Given the description of an element on the screen output the (x, y) to click on. 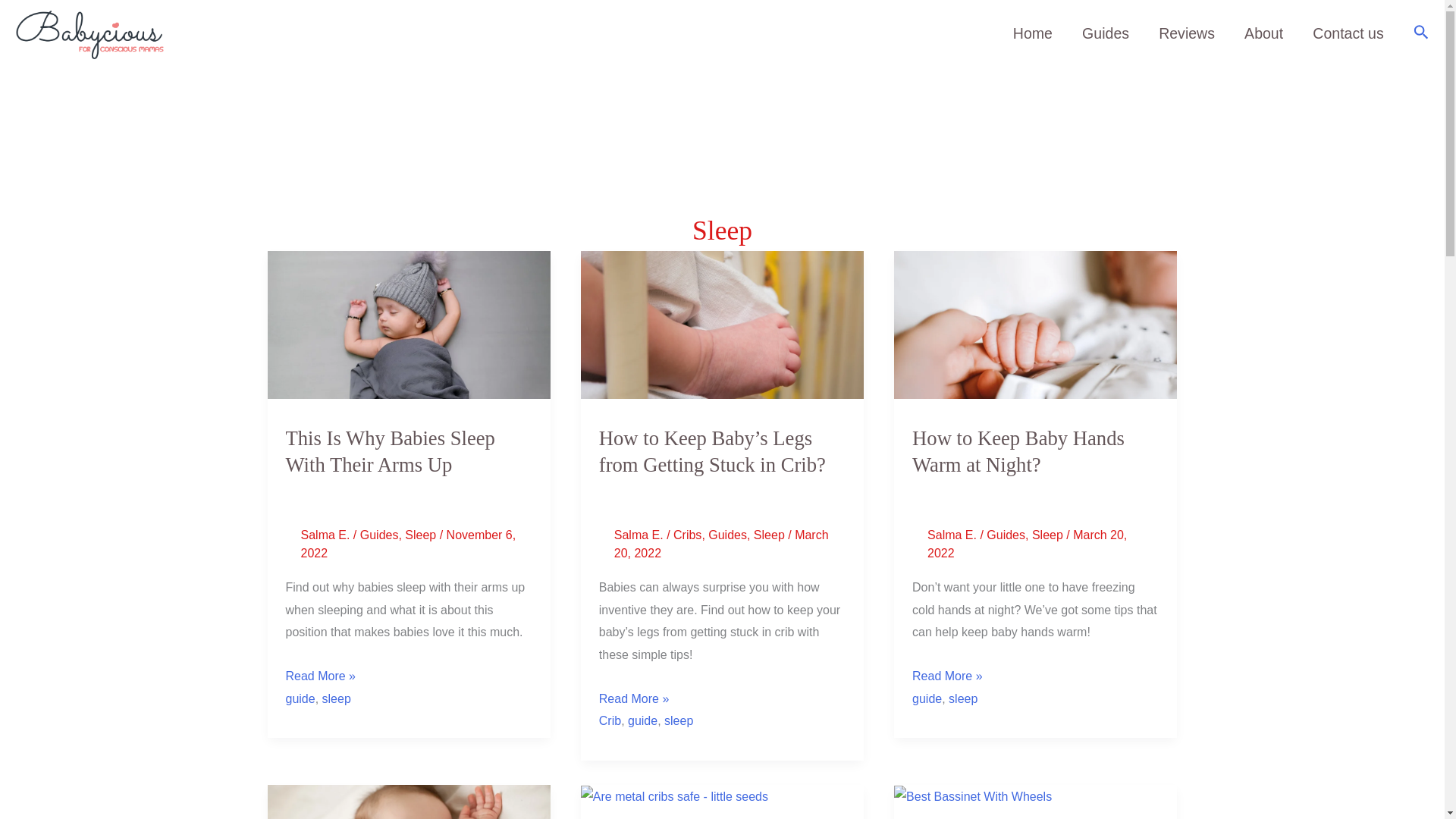
How to Keep Baby Hands Warm at Night? (1018, 450)
Guides (378, 534)
About (1264, 32)
sleep (335, 698)
Salma E. (953, 534)
Guides (1006, 534)
View all posts by Salma E. (640, 534)
guide (642, 720)
Cribs (686, 534)
Guides (726, 534)
Reviews (1187, 32)
Sleep (769, 534)
Guides (1105, 32)
Salma E. (325, 534)
Contact us (1348, 32)
